Given the description of an element on the screen output the (x, y) to click on. 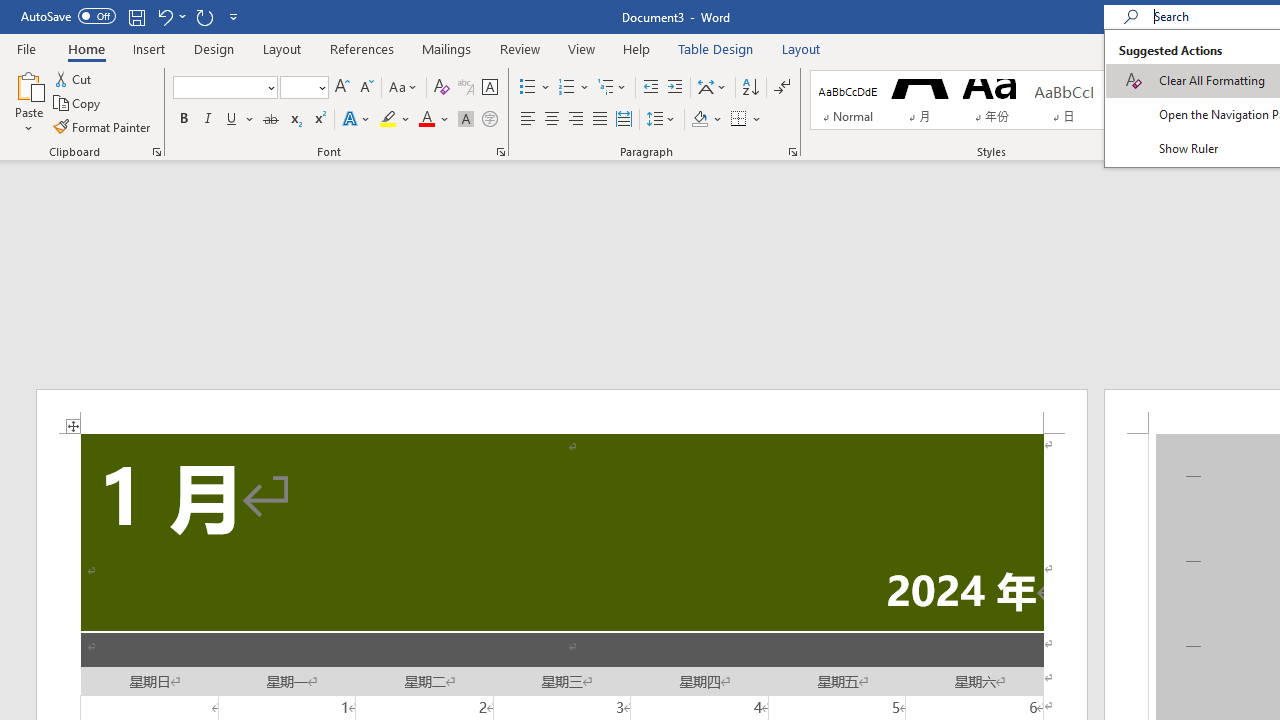
Character Border (489, 87)
Asian Layout (712, 87)
Text Highlight Color Yellow (388, 119)
Repeat Doc Close (204, 15)
Numbering (573, 87)
Row up (1179, 79)
Font... (500, 151)
Quick Access Toolbar (131, 16)
Undo Apply Quick Style (170, 15)
Grow Font (342, 87)
Paragraph... (792, 151)
Font Size (304, 87)
Font Color (434, 119)
Save (136, 15)
